Given the description of an element on the screen output the (x, y) to click on. 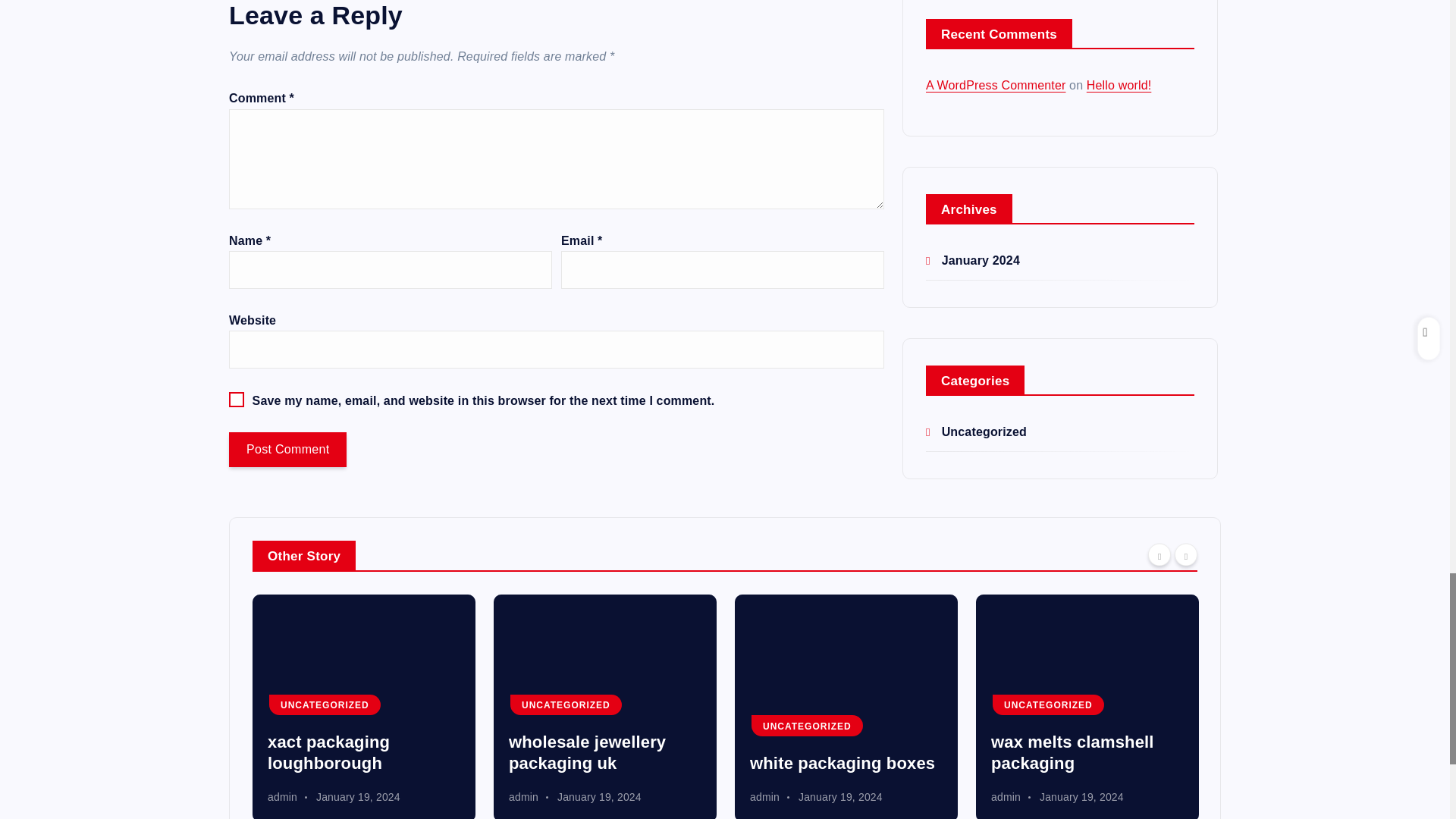
Post Comment (287, 449)
Post Comment (287, 449)
yes (236, 399)
